Given the description of an element on the screen output the (x, y) to click on. 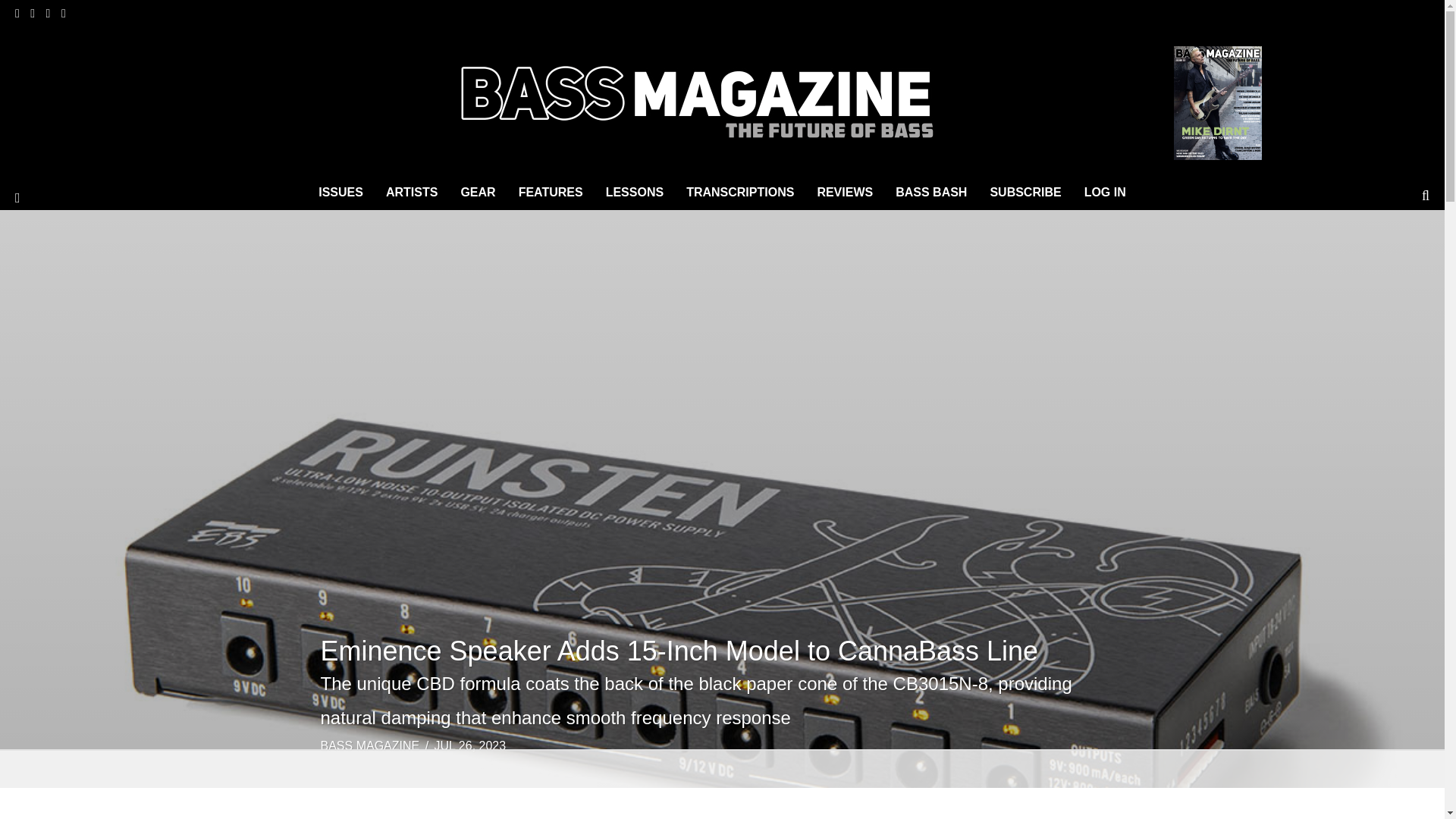
Issue 13 (1217, 101)
Bass Magazine Logo (706, 99)
